Given the description of an element on the screen output the (x, y) to click on. 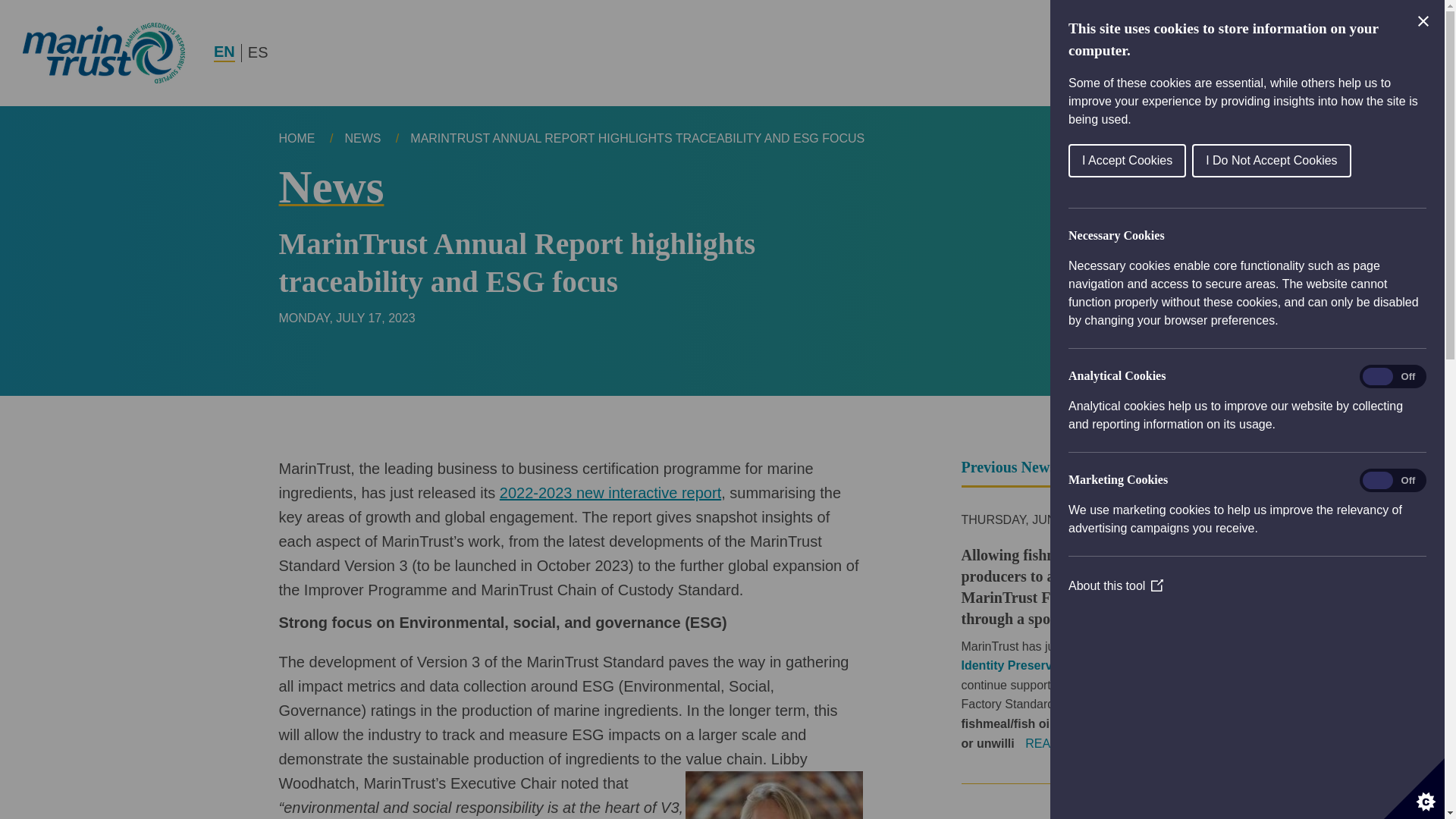
MENU (1379, 52)
EN (224, 53)
ES (257, 53)
